Given the description of an element on the screen output the (x, y) to click on. 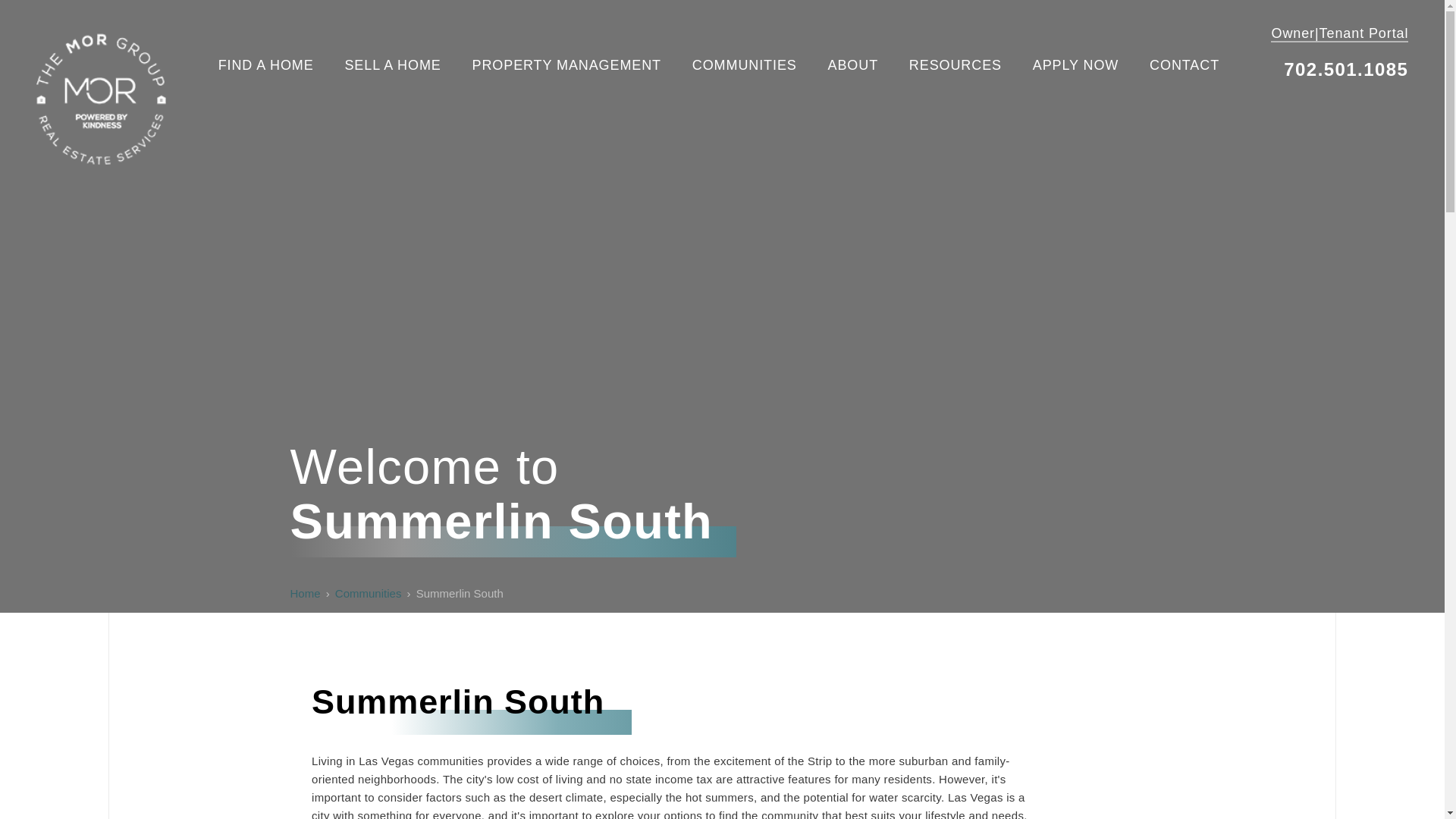
ABOUT (853, 65)
RESOURCES (954, 65)
COMMUNITIES (744, 65)
702.501.1085 (1345, 68)
APPLY NOW (1075, 65)
PROPERTY MANAGEMENT (566, 65)
FIND A HOME (266, 65)
CONTACT (1185, 65)
SELL A HOME (392, 65)
Owner (1292, 32)
Tenant Portal (1364, 32)
